Given the description of an element on the screen output the (x, y) to click on. 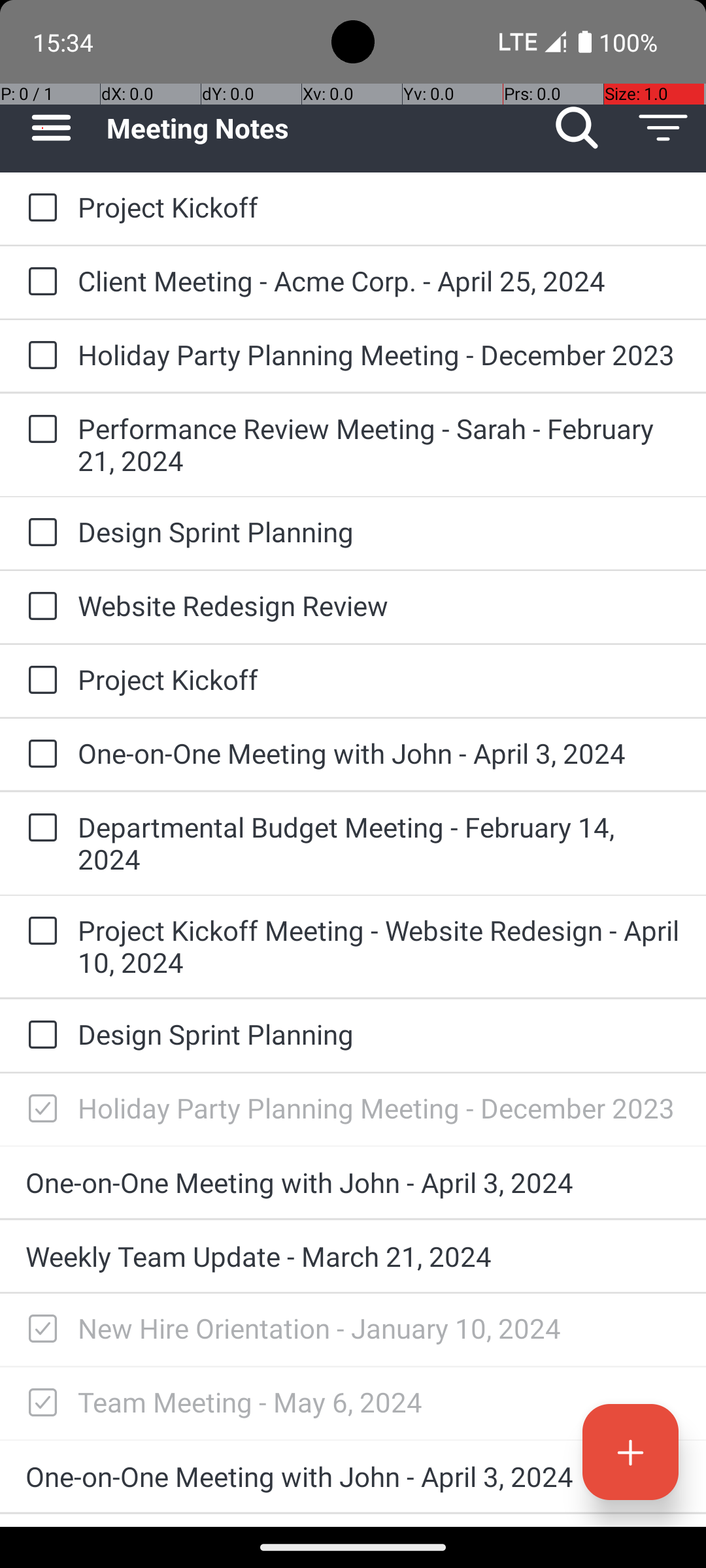
to-do: Project Kickoff Element type: android.widget.CheckBox (38, 208)
Project Kickoff Element type: android.widget.TextView (378, 206)
to-do: Client Meeting - Acme Corp. - April 25, 2024 Element type: android.widget.CheckBox (38, 282)
Client Meeting - Acme Corp. - April 25, 2024 Element type: android.widget.TextView (378, 280)
to-do: Holiday Party Planning Meeting - December 2023 Element type: android.widget.CheckBox (38, 356)
Holiday Party Planning Meeting - December 2023 Element type: android.widget.TextView (378, 354)
to-do: Performance Review Meeting - Sarah - February 21, 2024 Element type: android.widget.CheckBox (38, 429)
Performance Review Meeting - Sarah - February 21, 2024 Element type: android.widget.TextView (378, 443)
to-do: Design Sprint Planning Element type: android.widget.CheckBox (38, 533)
Design Sprint Planning Element type: android.widget.TextView (378, 531)
to-do: Website Redesign Review Element type: android.widget.CheckBox (38, 606)
Website Redesign Review Element type: android.widget.TextView (378, 604)
to-do: One-on-One Meeting with John - April 3, 2024 Element type: android.widget.CheckBox (38, 754)
One-on-One Meeting with John - April 3, 2024 Element type: android.widget.TextView (378, 752)
to-do: Departmental Budget Meeting - February 14, 2024 Element type: android.widget.CheckBox (38, 828)
Departmental Budget Meeting - February 14, 2024 Element type: android.widget.TextView (378, 842)
to-do: Project Kickoff Meeting - Website Redesign - April 10, 2024 Element type: android.widget.CheckBox (38, 931)
Project Kickoff Meeting - Website Redesign - April 10, 2024 Element type: android.widget.TextView (378, 945)
Weekly Team Update - March 21, 2024 Element type: android.widget.TextView (352, 1255)
to-do: New Hire Orientation - January 10, 2024 Element type: android.widget.CheckBox (38, 1329)
New Hire Orientation - January 10, 2024 Element type: android.widget.TextView (378, 1327)
to-do: Team Meeting - May 6, 2024 Element type: android.widget.CheckBox (38, 1403)
Team Meeting - May 6, 2024 Element type: android.widget.TextView (378, 1401)
